Given the description of an element on the screen output the (x, y) to click on. 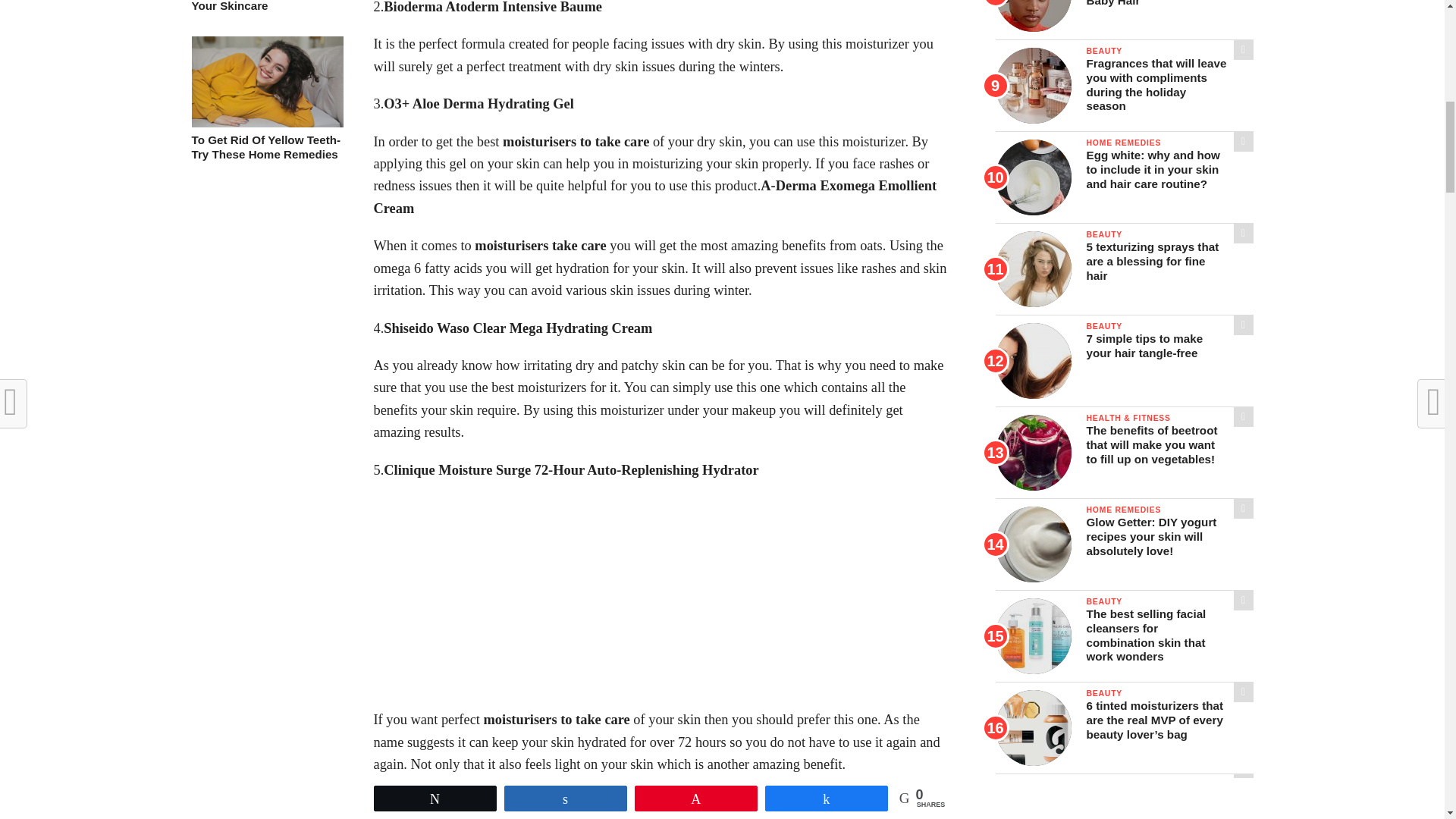
Advertisement (660, 602)
To Get Rid Of Yellow Teeth- Try These Home Remedies (266, 147)
Guide On How To Incorporate Honey Into Your Skincare (266, 6)
To Get Rid Of Yellow Teeth- Try These Home Remedies (266, 123)
